Given the description of an element on the screen output the (x, y) to click on. 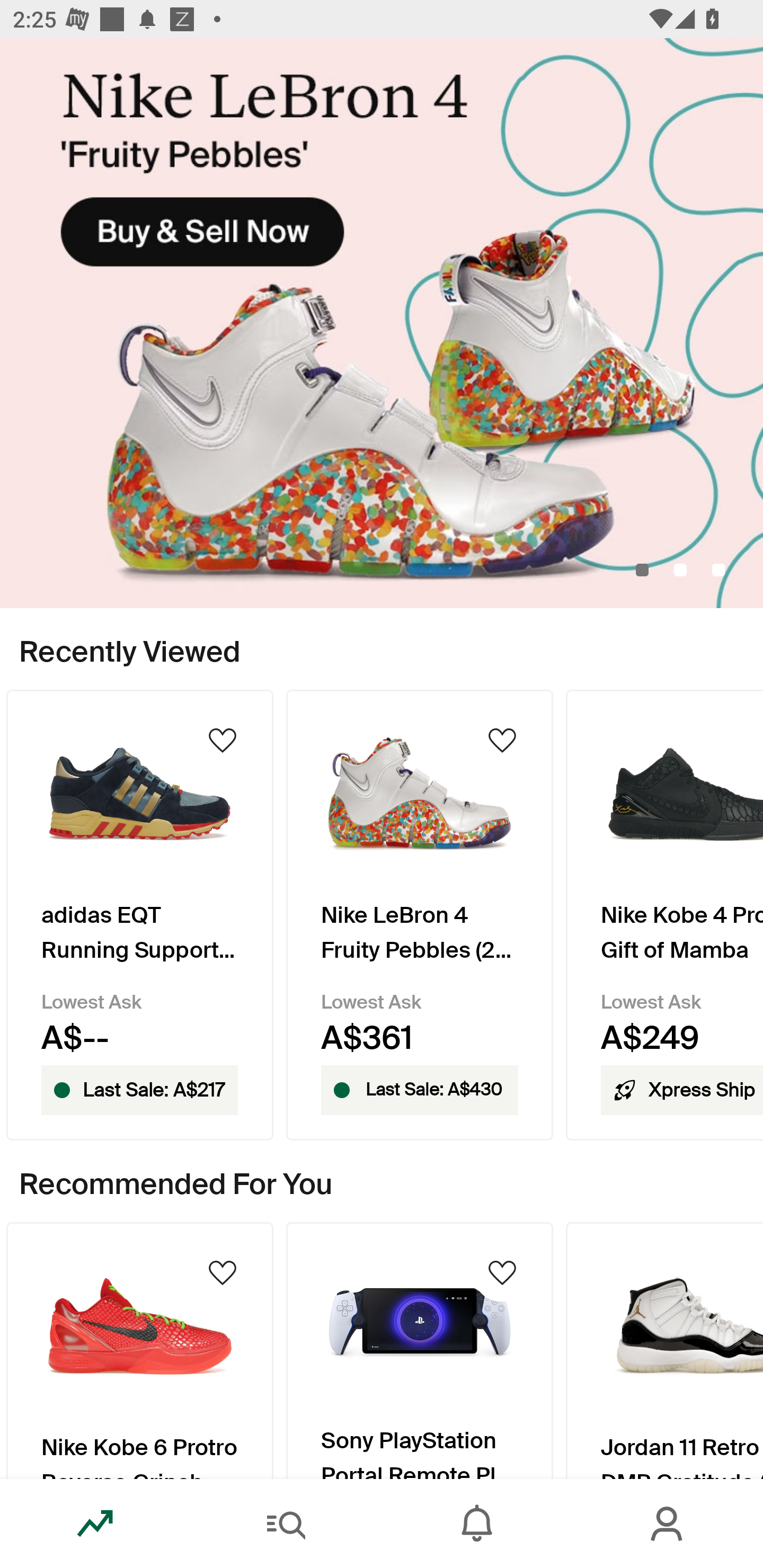
Product Image Nike Kobe 6 Protro Reverse Grinch (139, 1349)
Search (285, 1523)
Inbox (476, 1523)
Account (667, 1523)
